Given the description of an element on the screen output the (x, y) to click on. 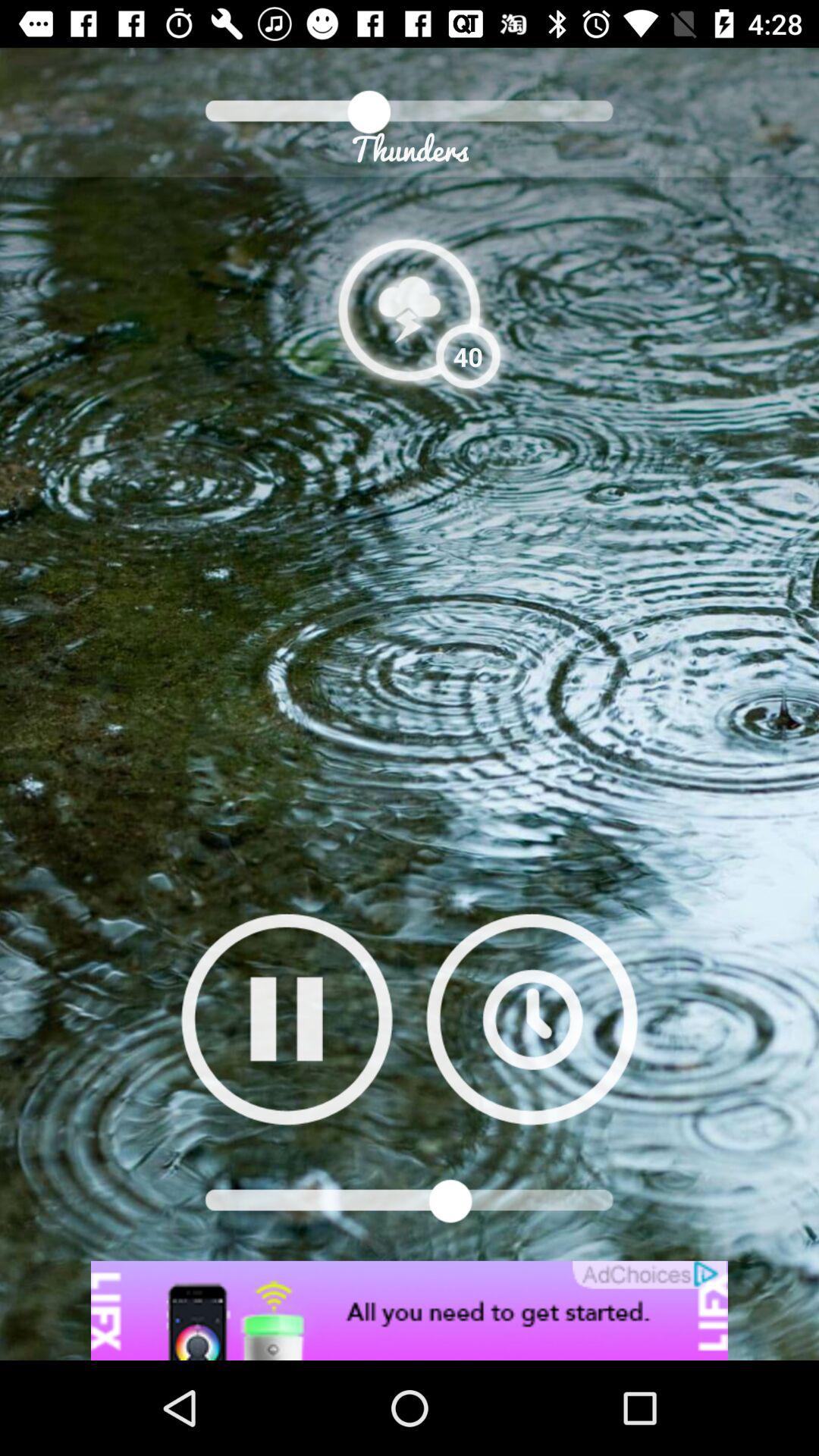
open weather information (408, 309)
